Given the description of an element on the screen output the (x, y) to click on. 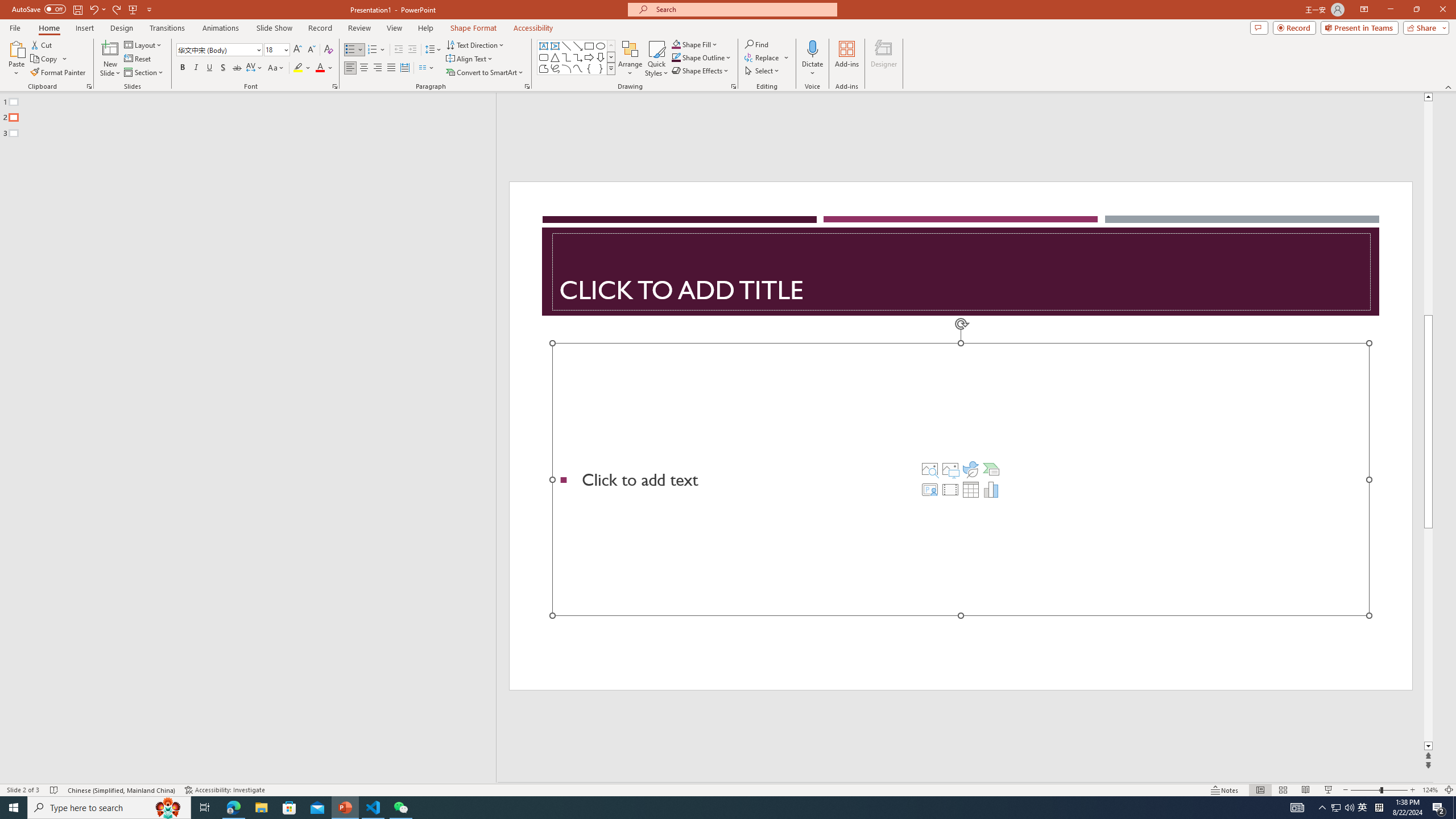
Insert Chart (991, 489)
